Given the description of an element on the screen output the (x, y) to click on. 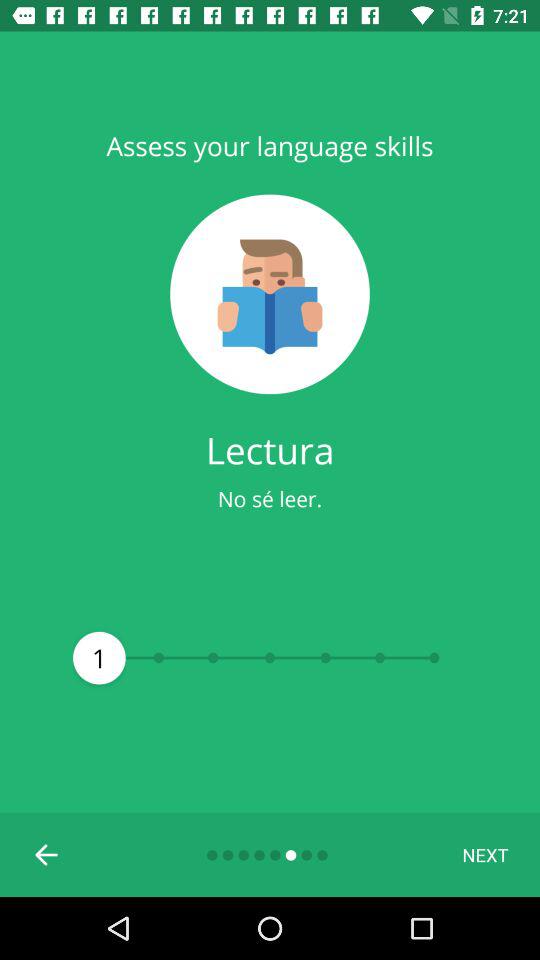
go back (47, 855)
